Given the description of an element on the screen output the (x, y) to click on. 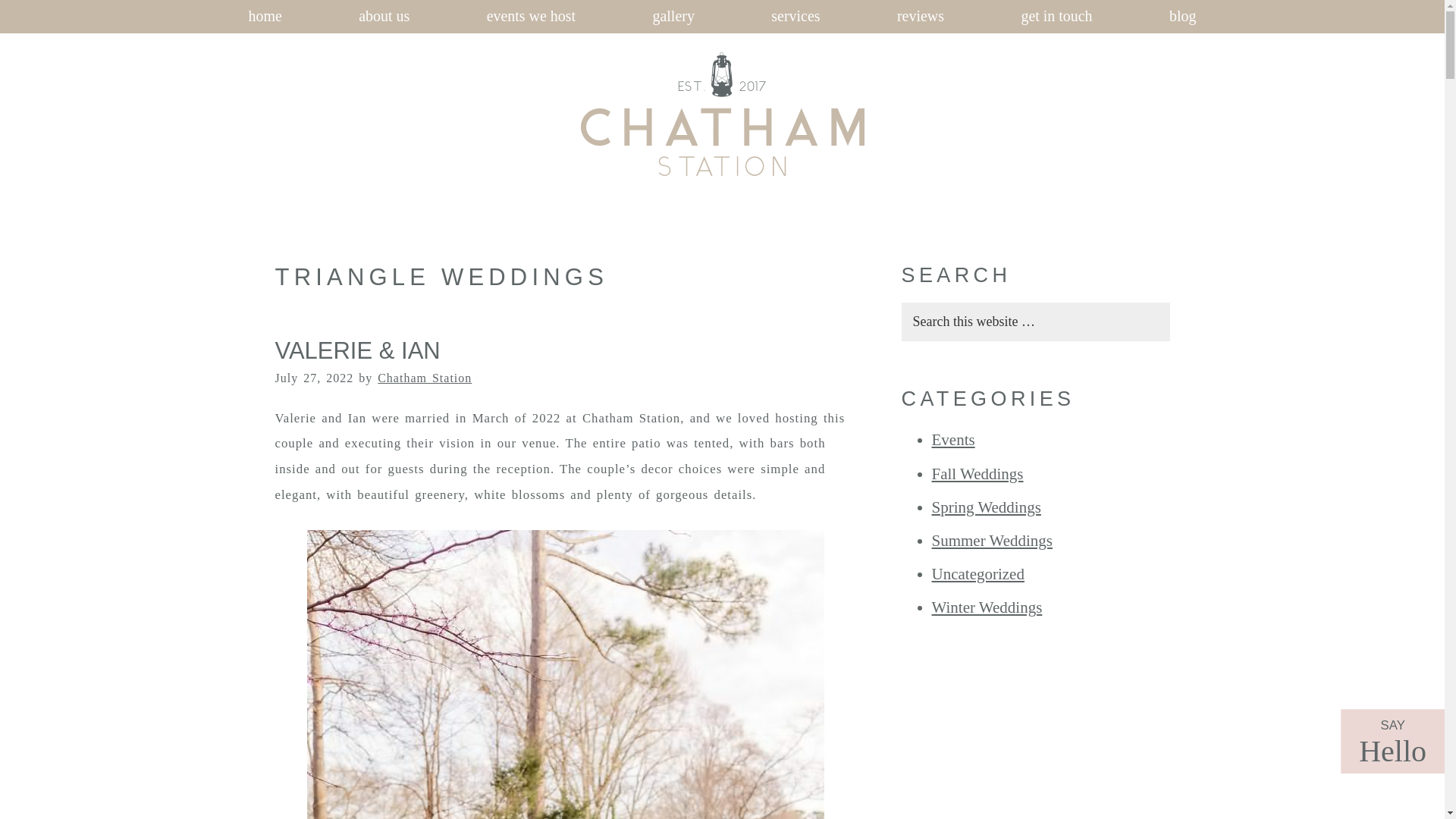
events we host (531, 16)
gallery (674, 16)
services (795, 16)
reviews (920, 16)
Chatham Station (605, 187)
Chatham Station (424, 377)
about us (383, 16)
blog (1182, 16)
